Given the description of an element on the screen output the (x, y) to click on. 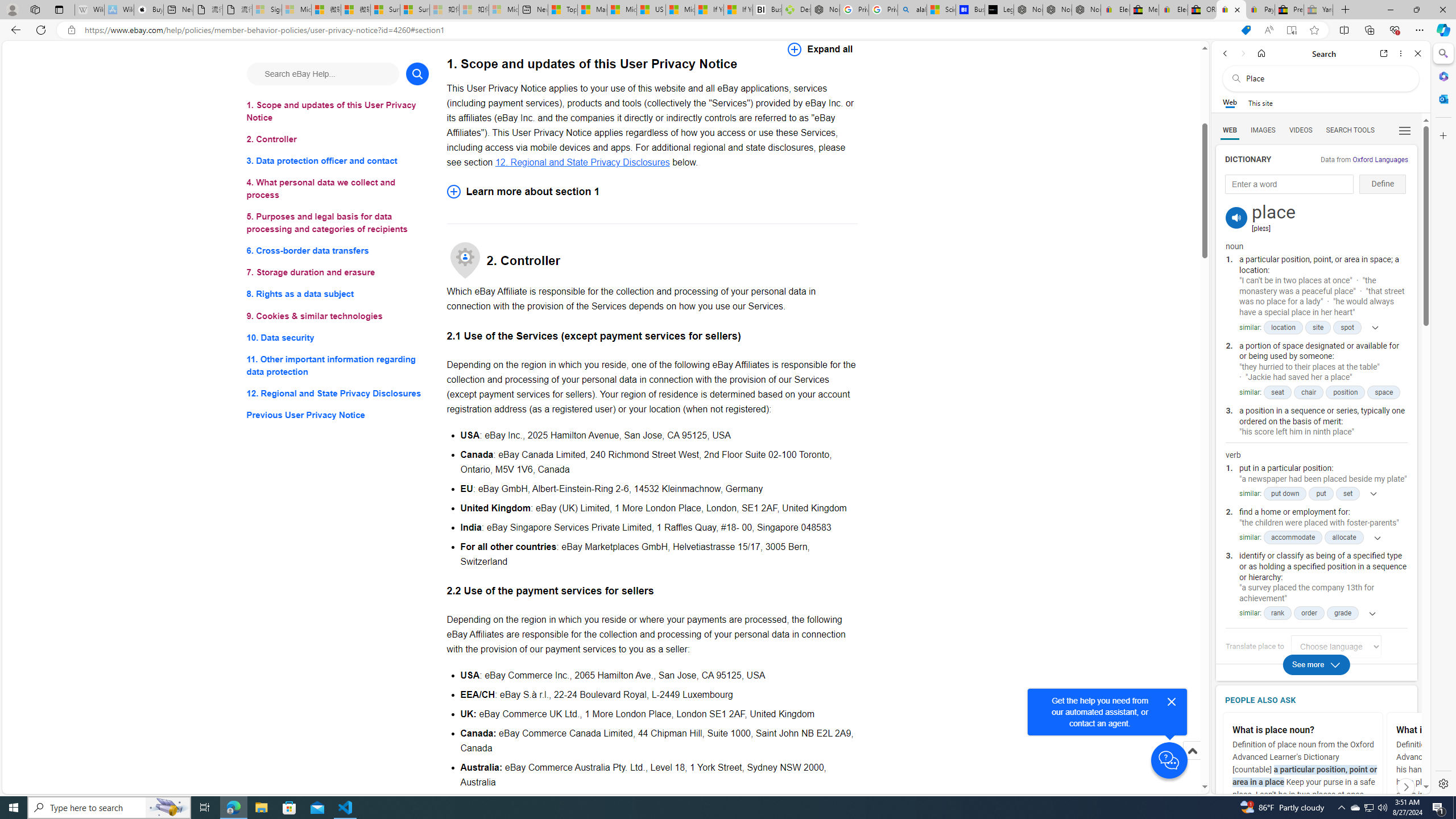
Scroll to top (1191, 750)
Preferences (1403, 129)
9. Cookies & similar technologies (337, 315)
chair (1307, 392)
Wikipedia - Sleeping (89, 9)
put down (1285, 493)
spot (1347, 327)
7. Storage duration and erasure (337, 272)
Click to scroll right (1405, 786)
